Given the description of an element on the screen output the (x, y) to click on. 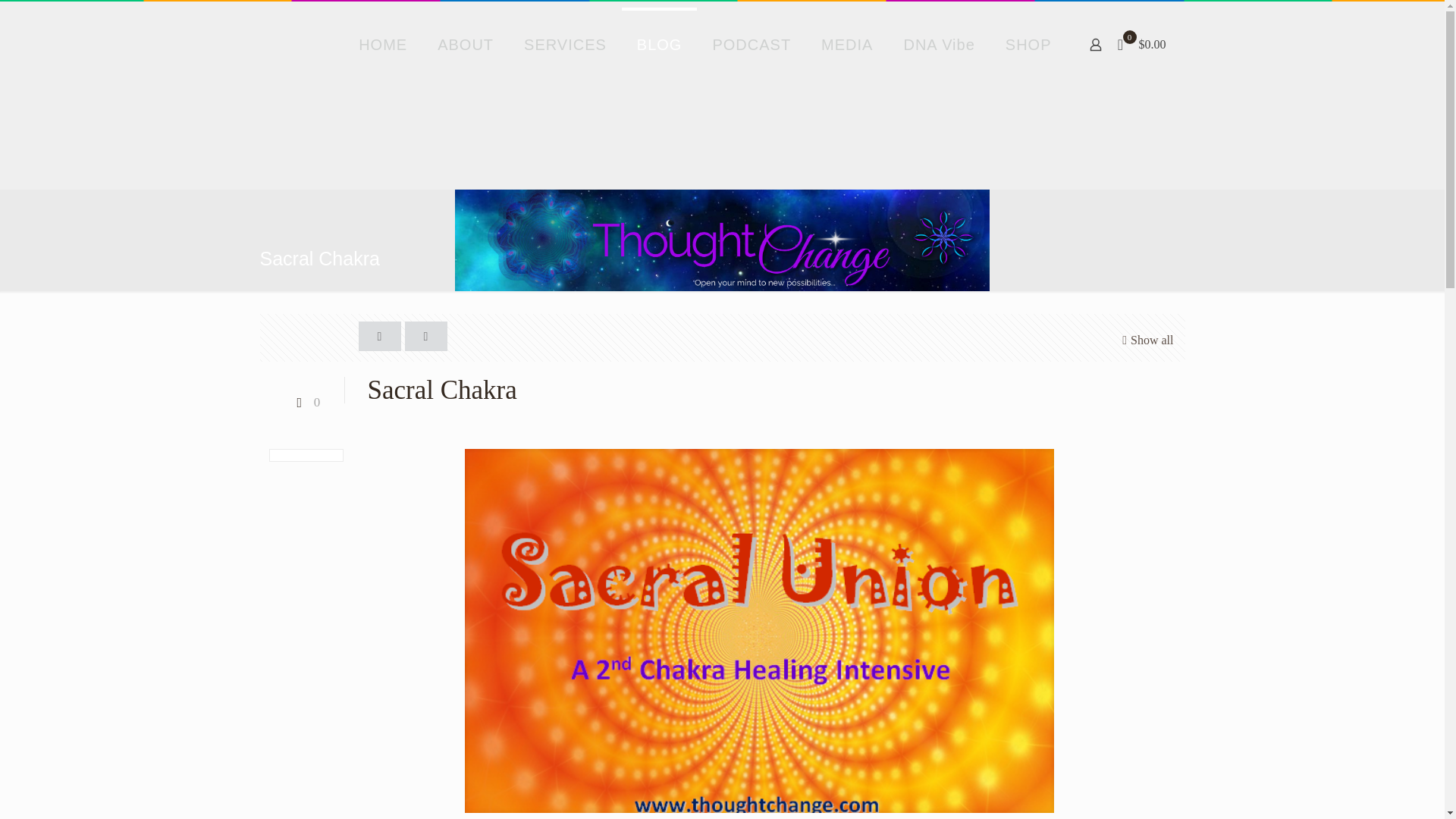
ABOUT (465, 44)
PODCAST (751, 44)
BLOG (659, 44)
DNA Vibe (939, 44)
HOME (382, 44)
SHOP (1028, 44)
MEDIA (847, 44)
SERVICES (564, 44)
